Given the description of an element on the screen output the (x, y) to click on. 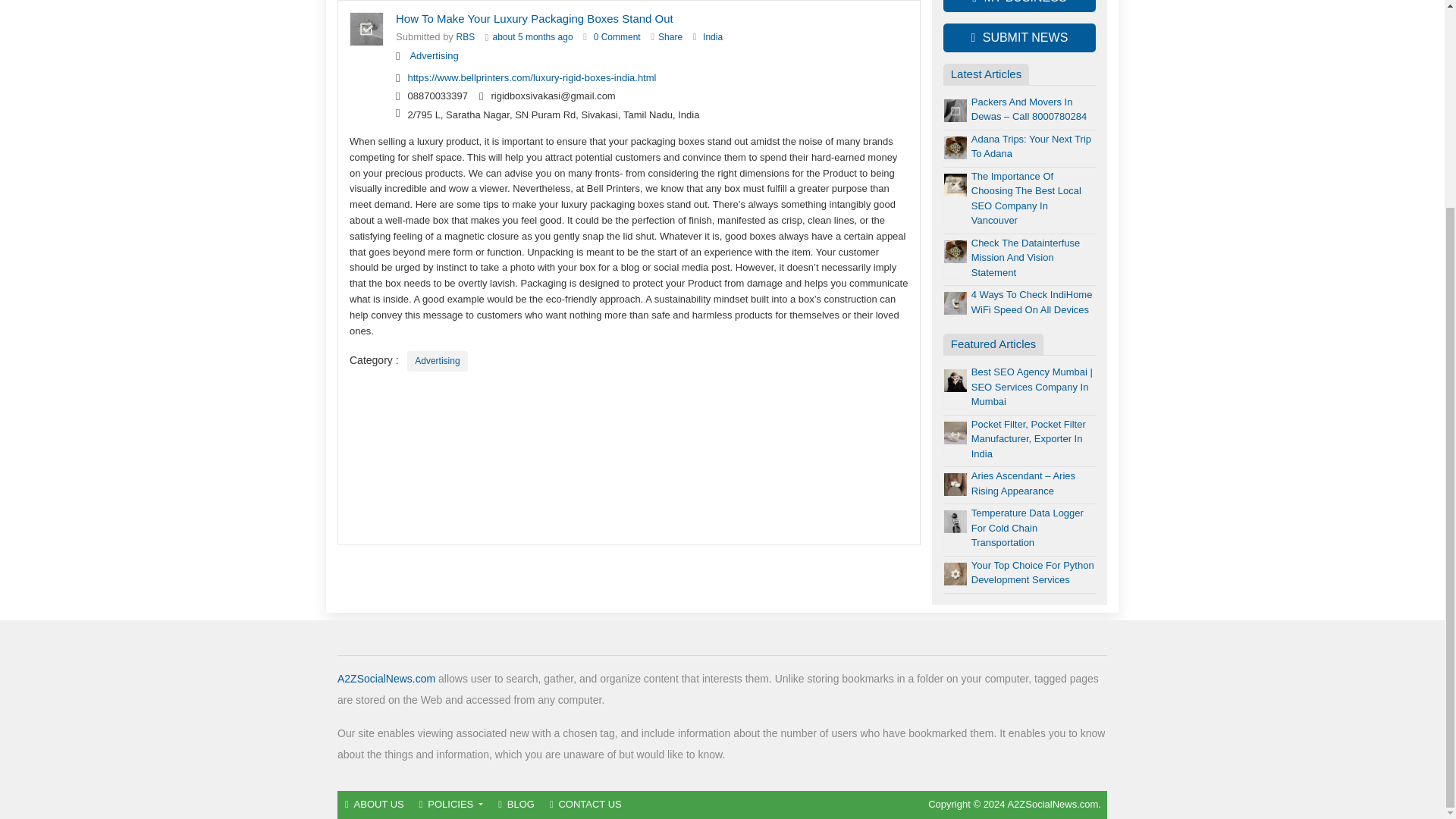
MY BUSINESS (1019, 6)
Advertisement (628, 459)
about 5 months ago (533, 36)
Advertising (433, 55)
about 5 months ago (533, 36)
RBS (466, 36)
Advertising (437, 361)
Advertising (437, 361)
India (712, 36)
Share (670, 36)
